Given the description of an element on the screen output the (x, y) to click on. 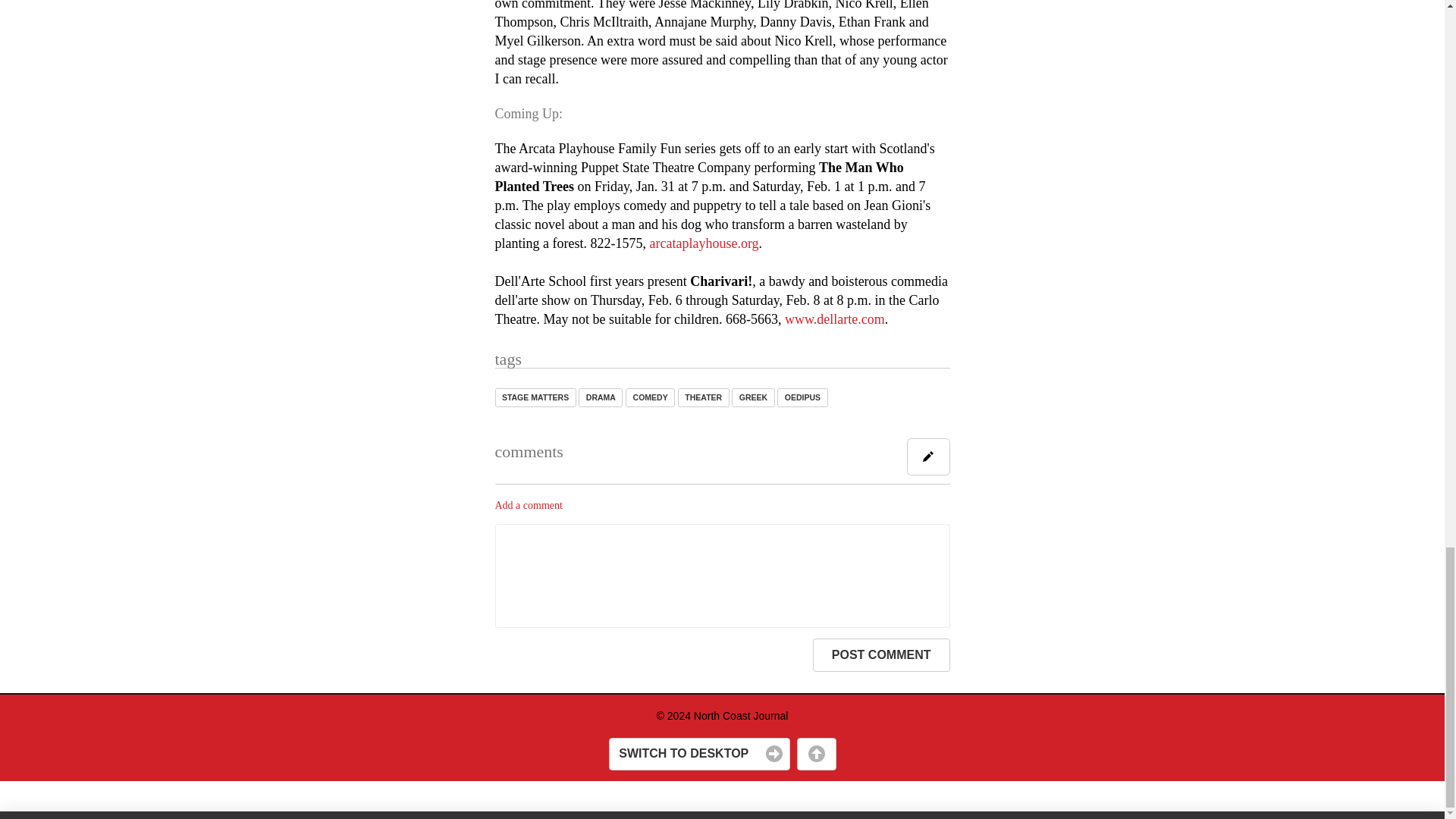
Post Comment (881, 654)
Add a comment (528, 505)
arcataplayhouse.org (703, 242)
STAGE MATTERS (535, 397)
DRAMA (600, 397)
www.dellarte.com (834, 319)
ADD A COMMENT (928, 456)
THEATER (703, 397)
Post Comment (881, 654)
GREEK (753, 397)
SWITCH TO DESKTOP (698, 754)
COMEDY (650, 397)
OEDIPUS (802, 397)
BACK TO TOP (815, 754)
